Given the description of an element on the screen output the (x, y) to click on. 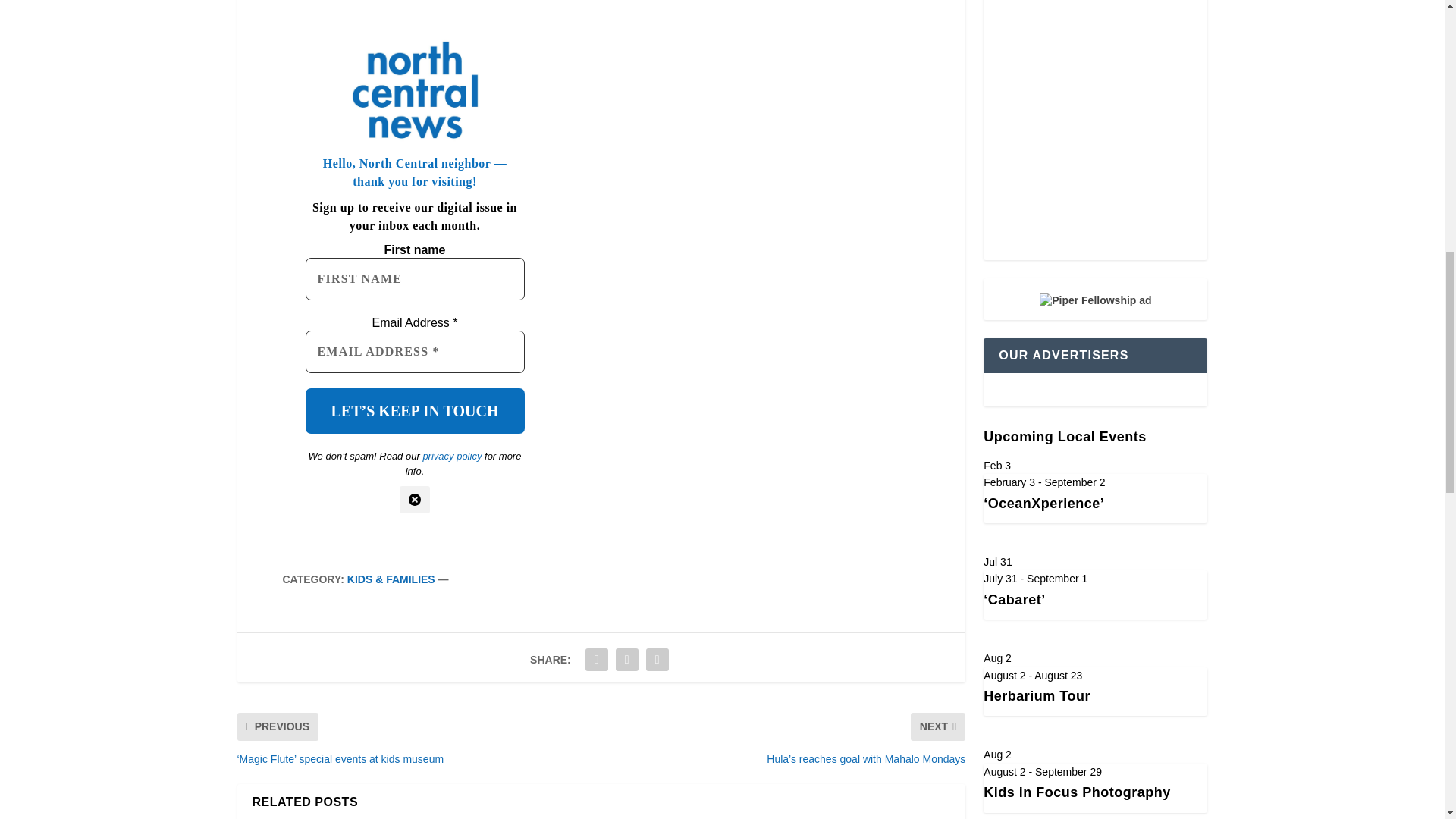
First name (414, 278)
Share "Phoenix Boys Choir offers free workshop" via Facebook (595, 659)
Email Address (414, 351)
Share "Phoenix Boys Choir offers free workshop" via Email (657, 659)
Share "Phoenix Boys Choir offers free workshop" via Twitter (626, 659)
privacy policy (451, 455)
